Given the description of an element on the screen output the (x, y) to click on. 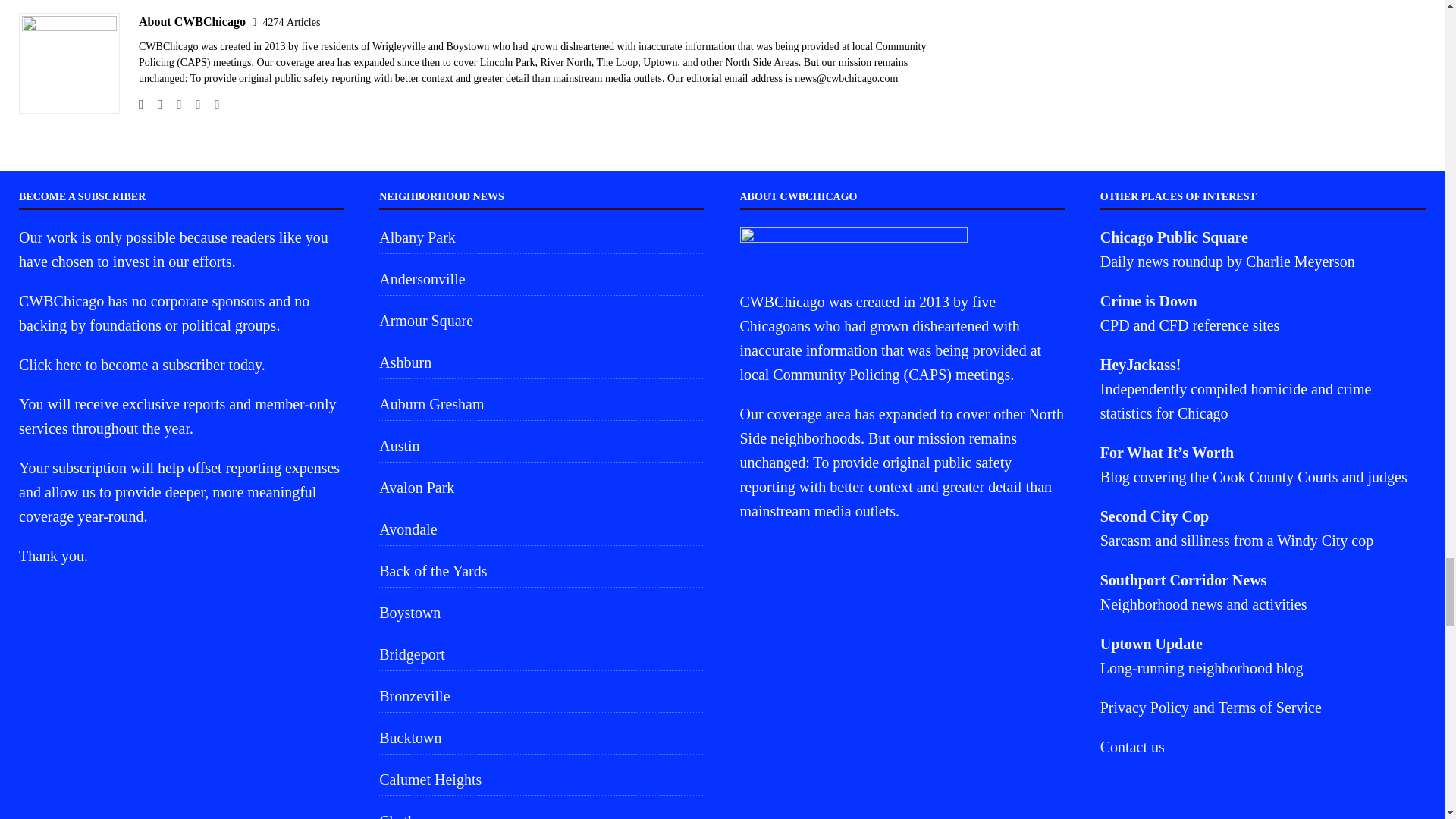
Follow CWBChicago on Instagram (173, 104)
Follow CWBChicago on Facebook (155, 104)
Follow CWBChicago on Twitter (192, 104)
More articles written by CWBChicago' (291, 21)
Follow CWBChicago on YouTube (211, 104)
